Given the description of an element on the screen output the (x, y) to click on. 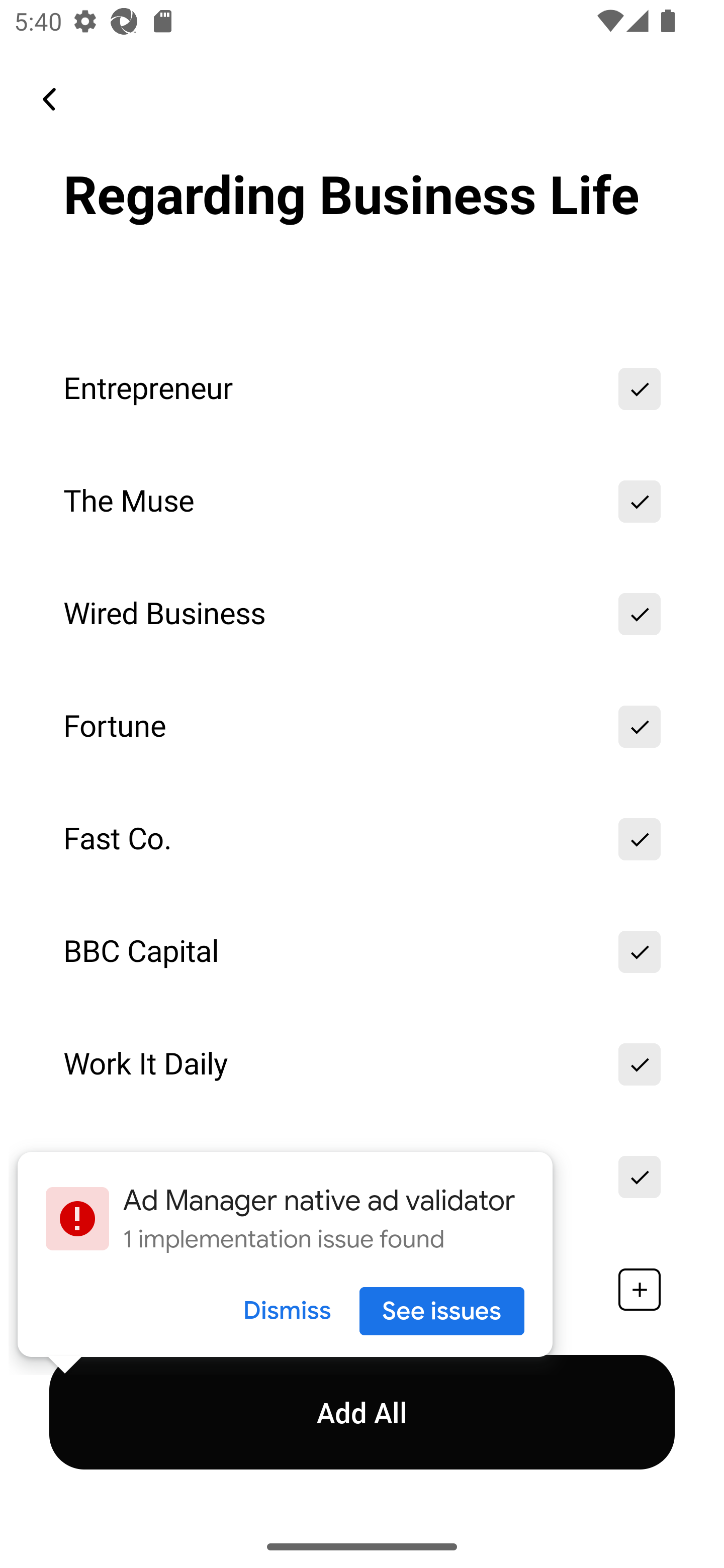
Leading Icon (49, 98)
Entrepreneur Add To My Bundle (361, 388)
Add To My Bundle (639, 388)
The Muse Add To My Bundle (361, 501)
Add To My Bundle (639, 501)
Wired Business Add To My Bundle (361, 614)
Add To My Bundle (639, 614)
Fortune Add To My Bundle (361, 726)
Add To My Bundle (639, 726)
Fast Co. Add To My Bundle (361, 838)
Add To My Bundle (639, 838)
BBC Capital Add To My Bundle (361, 951)
Add To My Bundle (639, 951)
Work It Daily Add To My Bundle (361, 1064)
Add To My Bundle (639, 1064)
Add To My Bundle (639, 1177)
Add To My Bundle (639, 1289)
Add All (361, 1411)
